Given the description of an element on the screen output the (x, y) to click on. 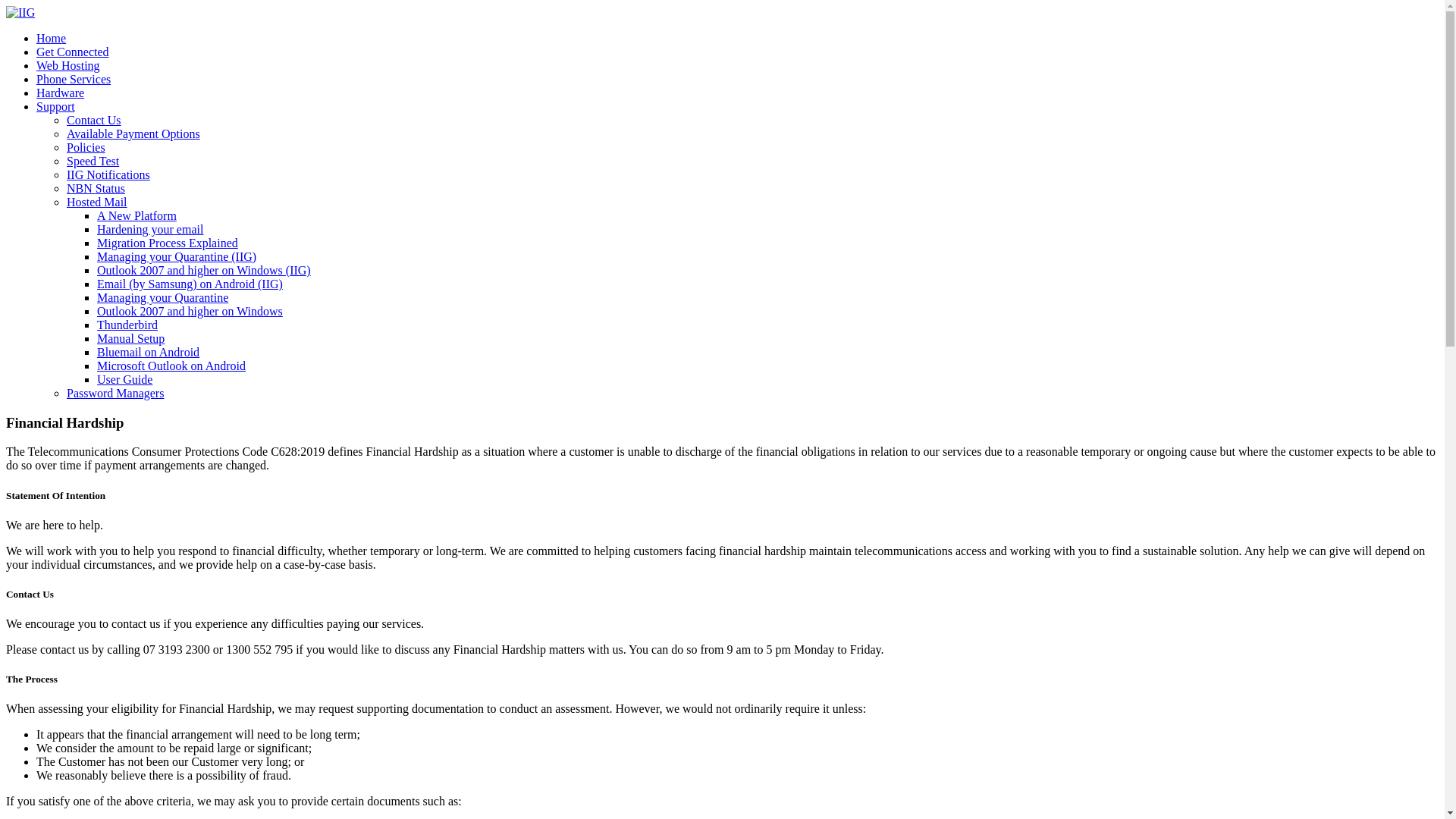
Thunderbird Element type: text (127, 324)
Hardware Element type: text (60, 92)
Phone Services Element type: text (73, 78)
Support Element type: text (55, 106)
Manual Setup Element type: text (130, 338)
Managing your Quarantine Element type: text (162, 297)
Available Payment Options Element type: text (133, 133)
Microsoft Outlook on Android Element type: text (171, 365)
Managing your Quarantine (IIG) Element type: text (176, 256)
User Guide Element type: text (124, 379)
Speed Test Element type: text (92, 160)
Bluemail on Android Element type: text (148, 351)
Password Managers Element type: text (114, 392)
Web Hosting Element type: text (68, 65)
Outlook 2007 and higher on Windows (IIG) Element type: text (203, 269)
Email (by Samsung) on Android (IIG) Element type: text (189, 283)
Policies Element type: text (85, 147)
Migration Process Explained Element type: text (167, 242)
Home Element type: text (50, 37)
Contact Us Element type: text (93, 119)
Hosted Mail Element type: text (96, 201)
Get Connected Element type: text (72, 51)
Hardening your email Element type: text (150, 228)
Outlook 2007 and higher on Windows Element type: text (189, 310)
IIG Notifications Element type: text (108, 174)
NBN Status Element type: text (95, 188)
A New Platform Element type: text (136, 215)
